Given the description of an element on the screen output the (x, y) to click on. 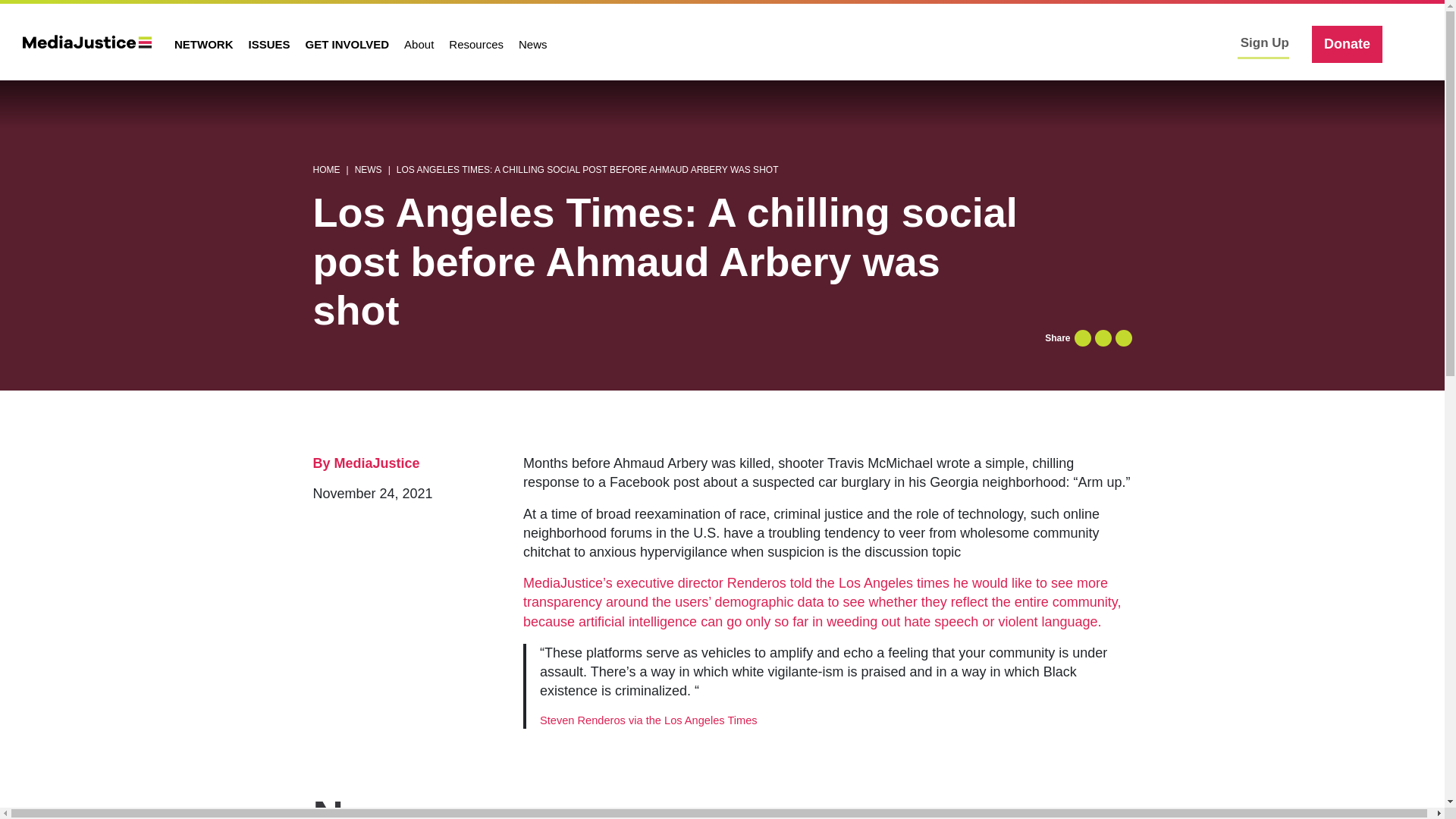
Instagram (1208, 43)
GET INVOLVED (347, 44)
News (532, 44)
ISSUES (269, 44)
Twitter (1196, 43)
NETWORK (204, 44)
Resources (476, 44)
About (418, 44)
Tweet (1103, 338)
Send email (1123, 338)
